Given the description of an element on the screen output the (x, y) to click on. 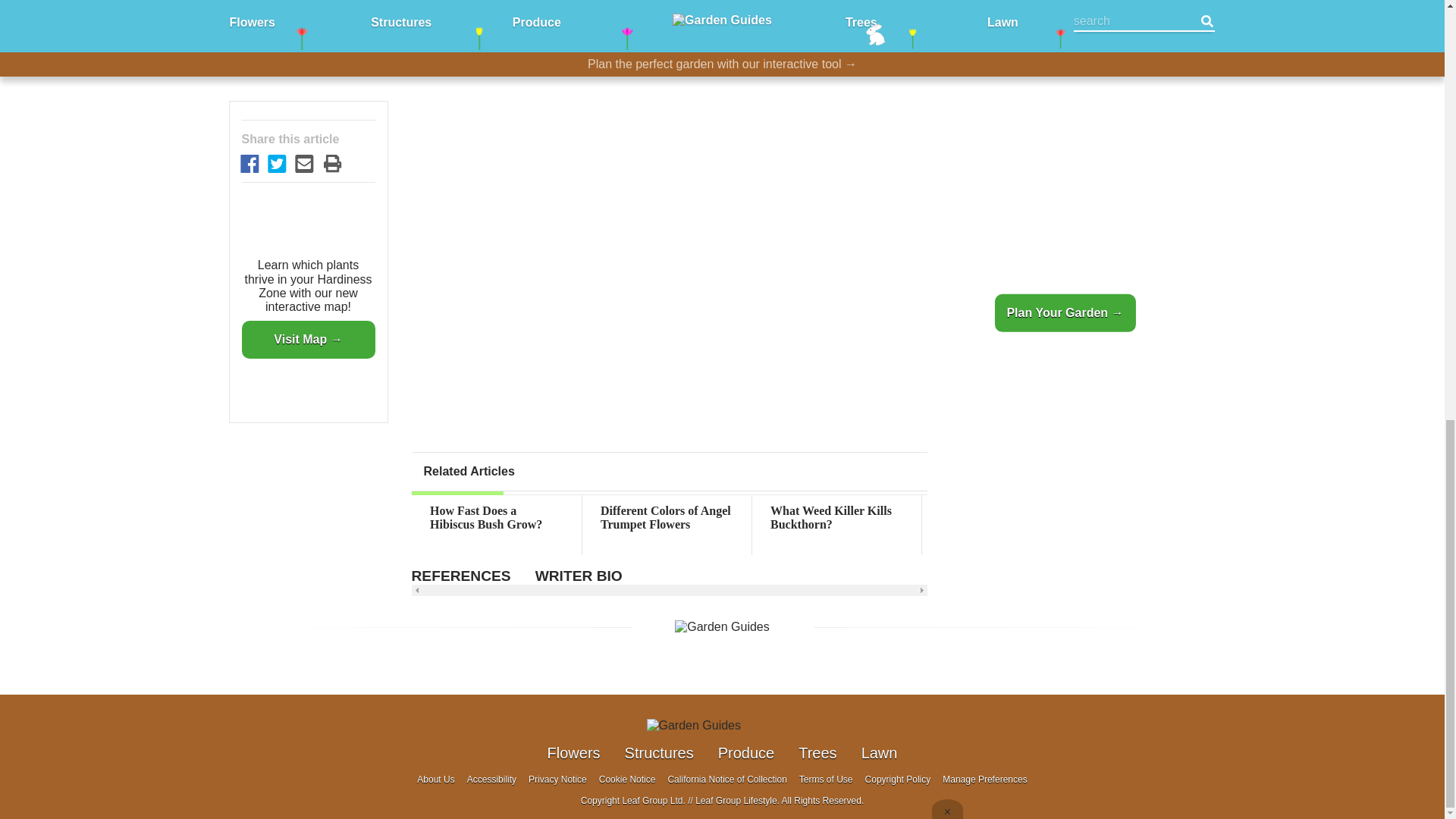
Can Hibiscus Flowers Hurt Dogs If They Eat the Blooms? (1346, 525)
What Weed Killer Kills Buckthorn? (836, 518)
Different Colors of Angel Trumpet Flowers (666, 518)
How Fast Does a Hibiscus Bush Grow? (495, 518)
The Lowest Temperature of Marigold Plants (1176, 518)
Are Dahlias Annual or Perennials? (1005, 518)
